Given the description of an element on the screen output the (x, y) to click on. 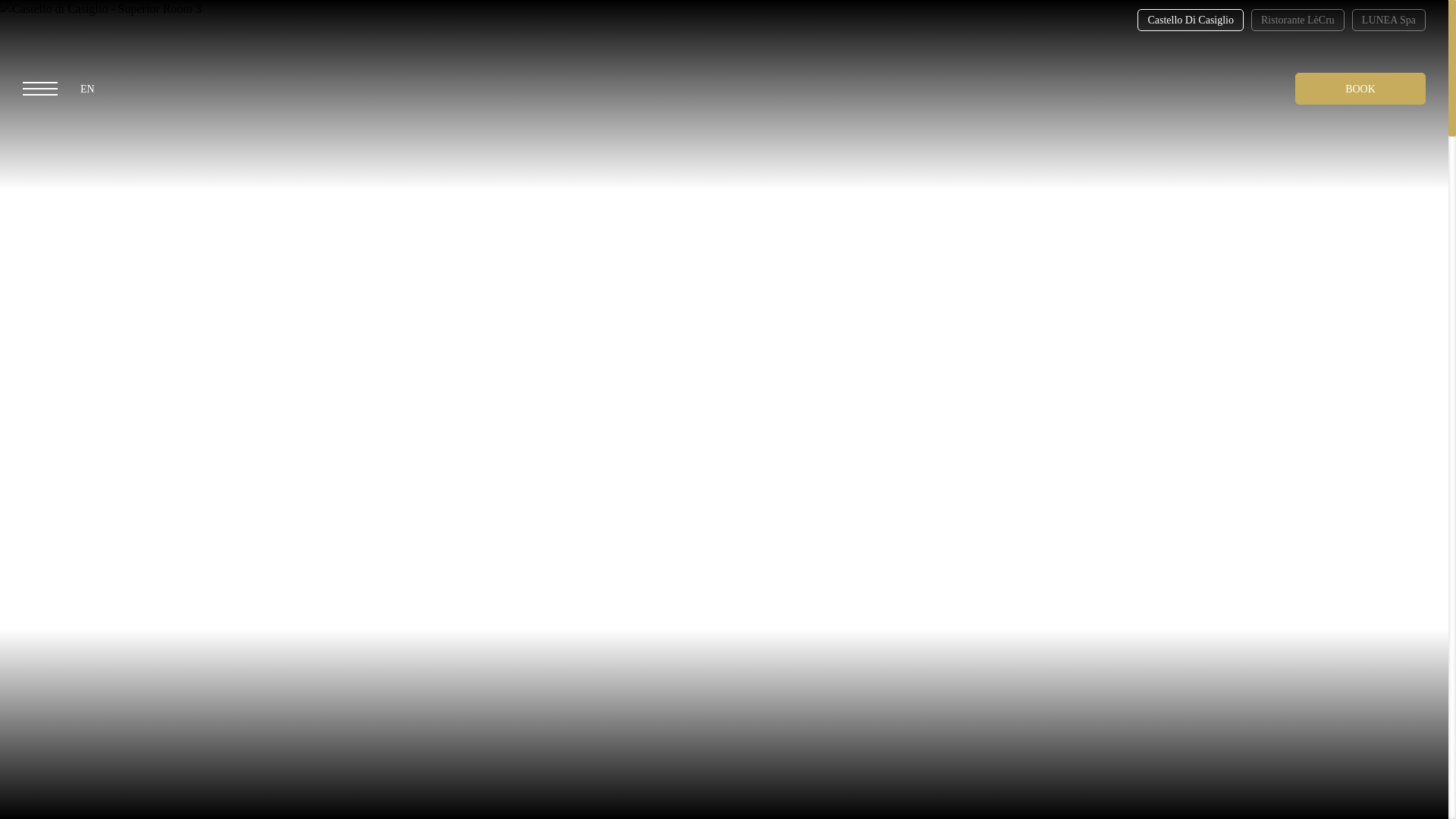
LUNEA Spa (1388, 20)
Castello Di Casiglio (1190, 20)
LUNEA Spa (1388, 20)
Castello Di Casiglio (1190, 20)
